Given the description of an element on the screen output the (x, y) to click on. 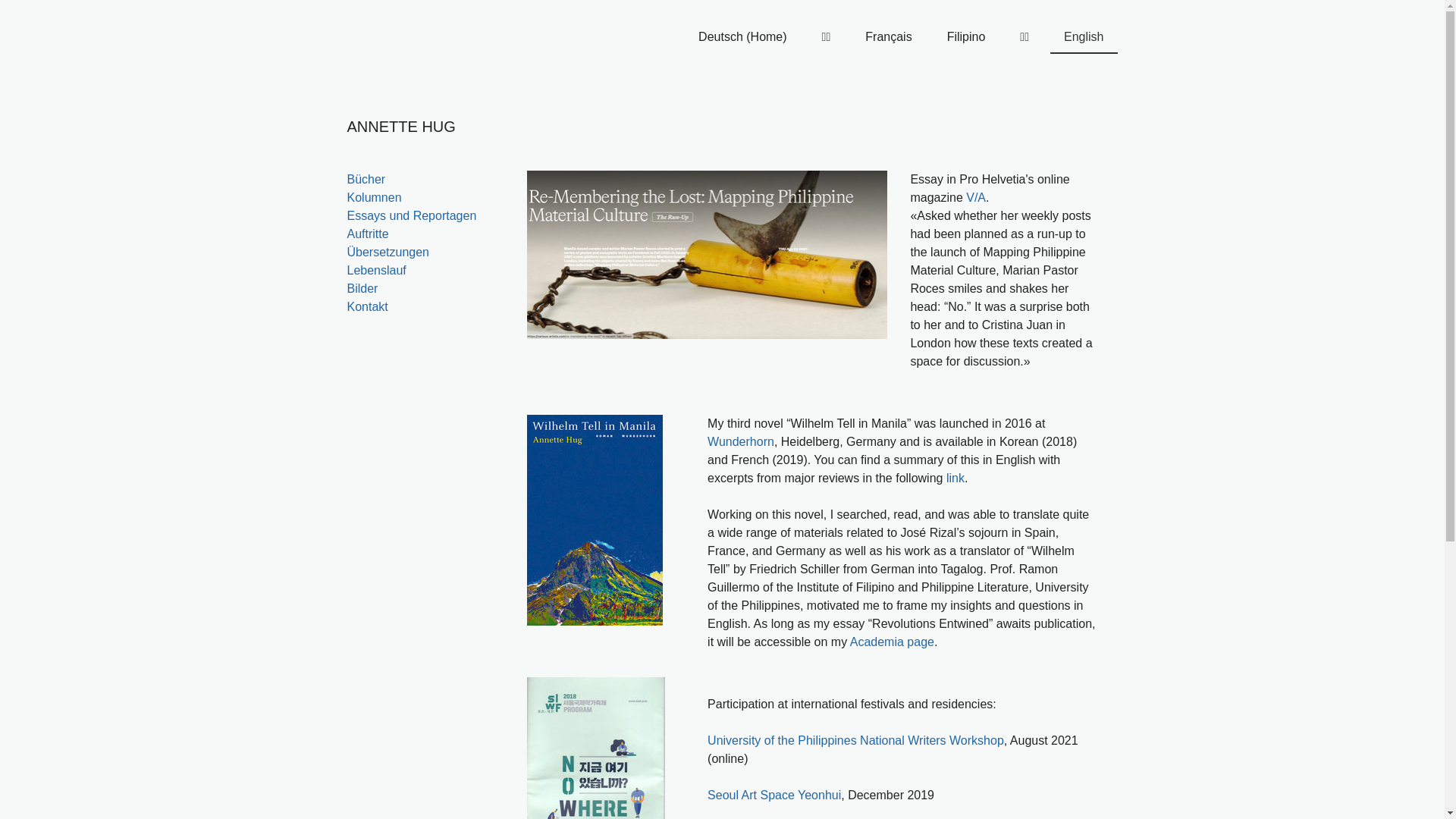
Kolumnen Element type: text (374, 197)
Seoul Art Space Yeonhui Element type: text (773, 794)
Lebenslauf Element type: text (376, 269)
Academia page Element type: text (892, 641)
English Element type: text (1083, 37)
V/A Element type: text (975, 197)
Auftritte Element type: text (368, 233)
link Element type: text (955, 477)
Kontakt Element type: text (367, 306)
Filipino Element type: text (966, 37)
Deutsch (Home) Element type: text (742, 37)
Bilder Element type: text (362, 288)
Essays und Reportagen Element type: text (411, 215)
Wunderhorn Element type: text (740, 441)
University of the Philippines National Writers Workshop Element type: text (855, 740)
